Given the description of an element on the screen output the (x, y) to click on. 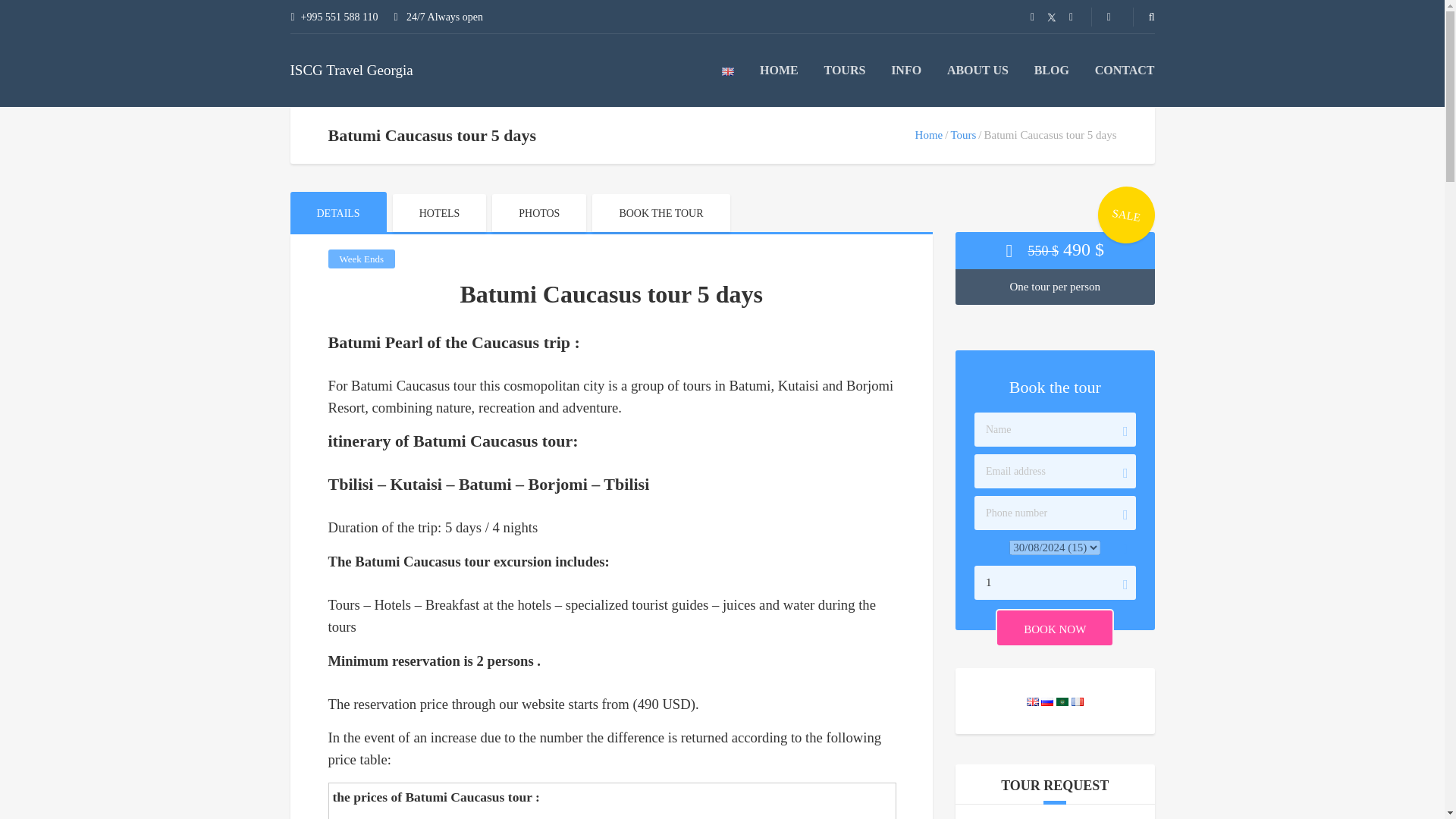
ISCG Travel Georgia (350, 70)
Book now (1054, 628)
TOURS (845, 69)
Home (929, 134)
ABOUT US (978, 69)
HOME (778, 69)
CONTACT (1124, 69)
BLOG (1050, 69)
BOOK THE TOUR (660, 212)
1 (1054, 582)
